Given the description of an element on the screen output the (x, y) to click on. 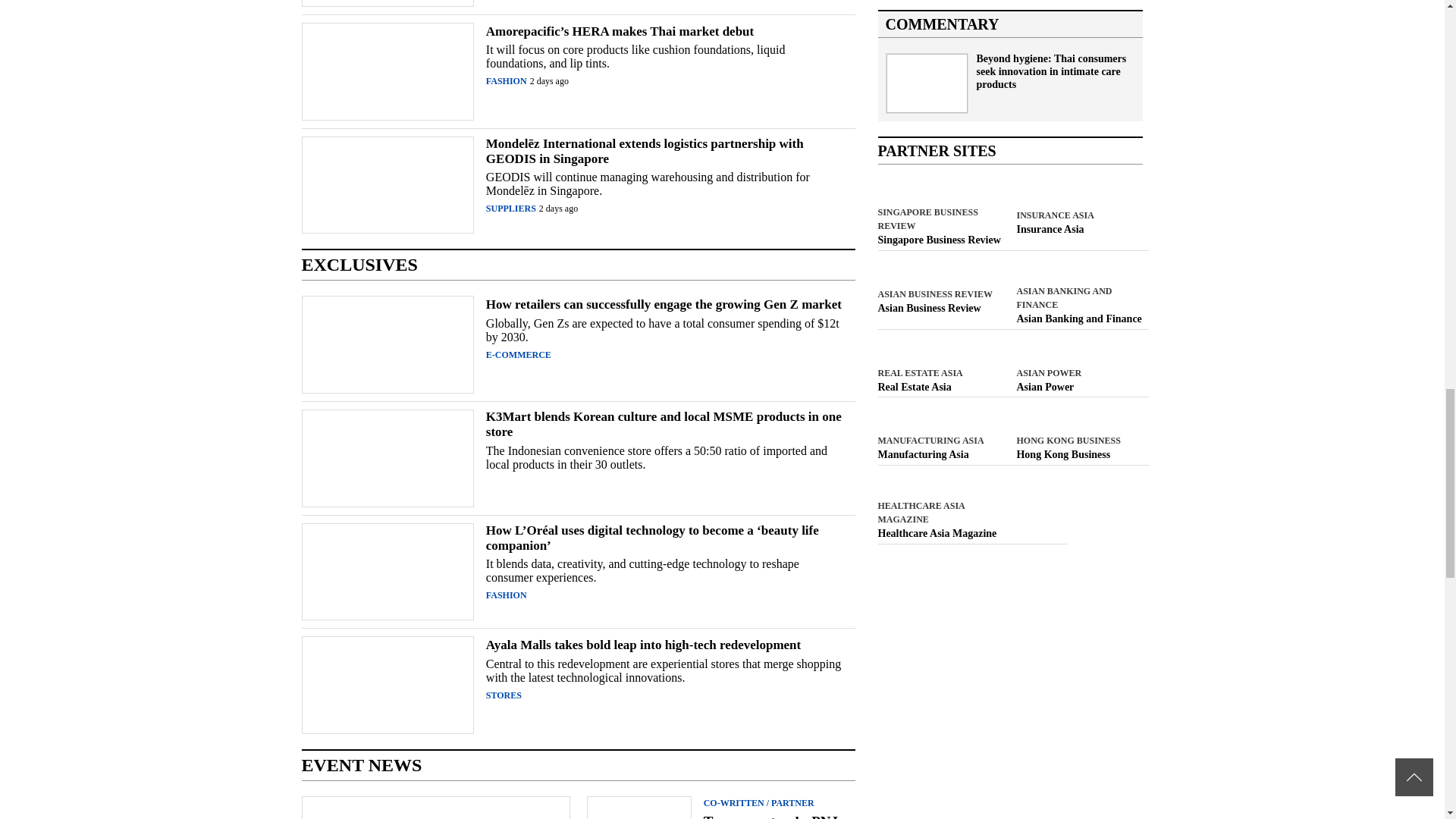
Why APAC logistics investments remained lacklustre in H1 (940, 387)
Hong Kong shops need new strategy versus mainland (1079, 454)
Malaysia told to integrate grids to quicken solar growth (1079, 387)
